Given the description of an element on the screen output the (x, y) to click on. 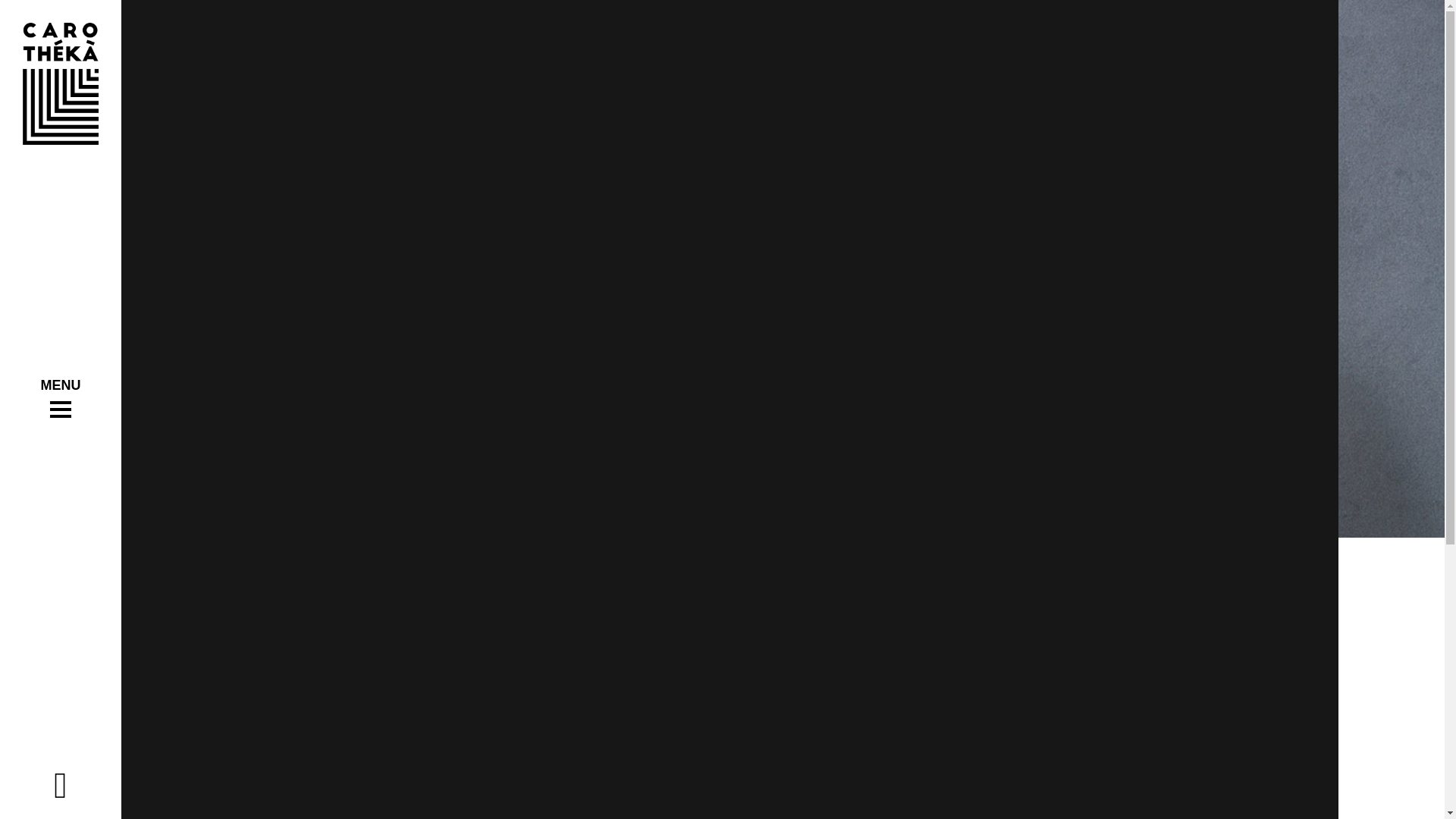
ACCUEIL (653, 369)
CONTACT (653, 445)
NOS MARQUES (653, 419)
CAROTHEKA (653, 395)
